Given the description of an element on the screen output the (x, y) to click on. 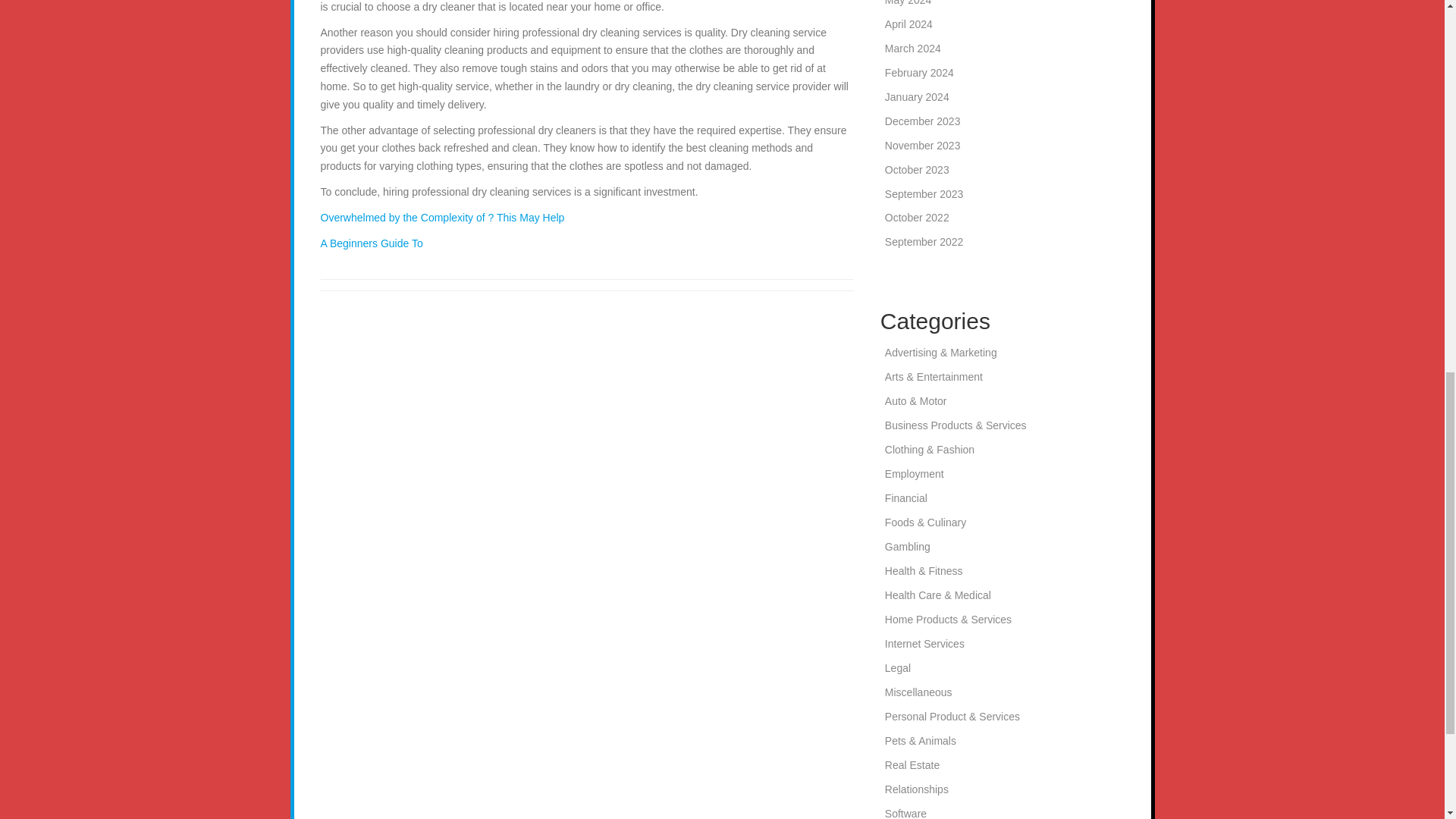
Financial (906, 498)
A Beginners Guide To (371, 243)
February 2024 (919, 72)
April 2024 (909, 24)
Overwhelmed by the Complexity of ? This May Help (442, 217)
September 2023 (924, 193)
October 2022 (917, 217)
November 2023 (922, 145)
Gambling (907, 546)
January 2024 (917, 96)
September 2022 (924, 241)
May 2024 (908, 2)
March 2024 (912, 48)
Internet Services (924, 644)
October 2023 (917, 169)
